Given the description of an element on the screen output the (x, y) to click on. 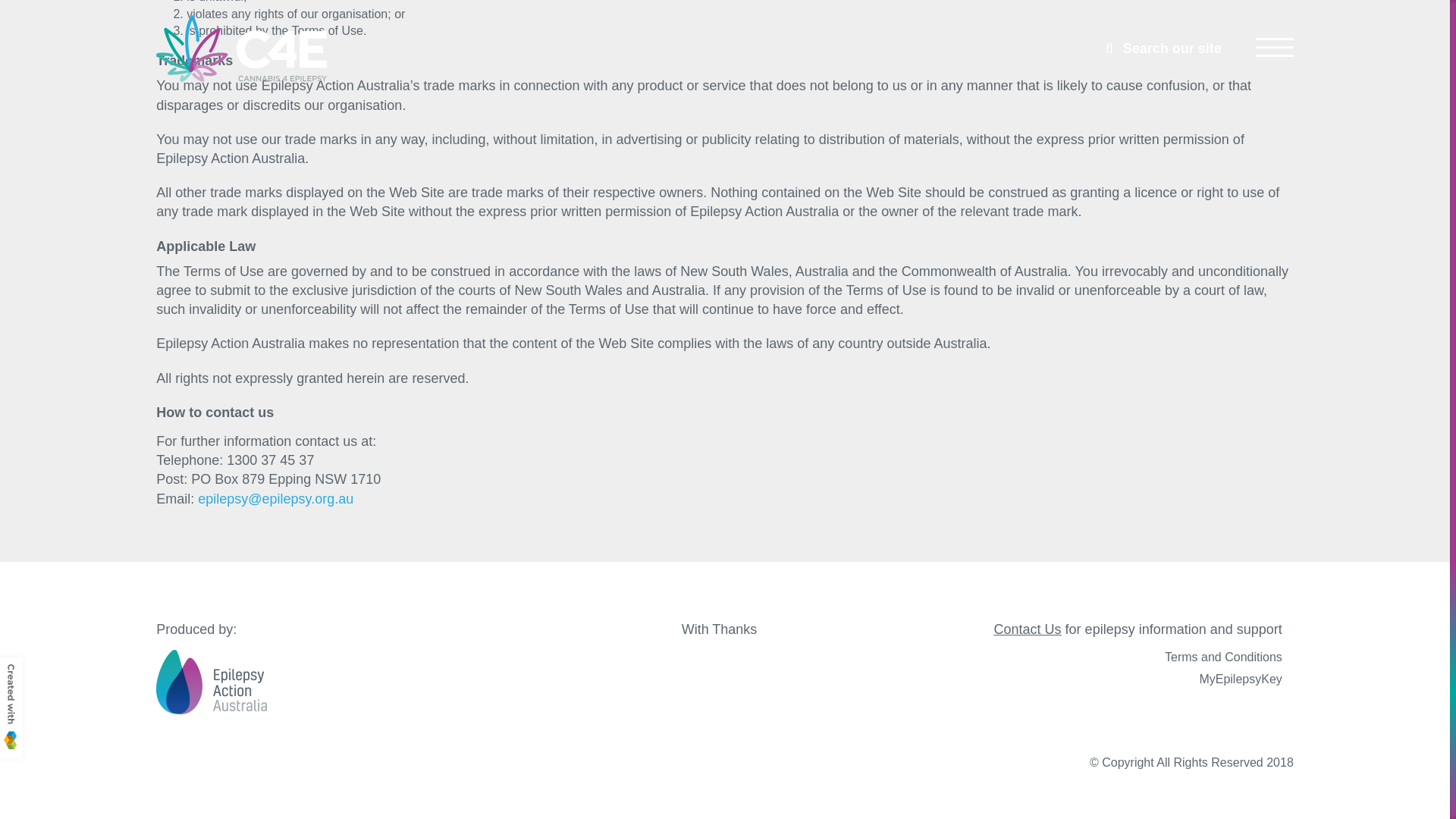
With Thanks (719, 629)
MyEpilepsyKey (1094, 678)
Terms and Conditions (1094, 657)
Contact Us (1027, 629)
